Given the description of an element on the screen output the (x, y) to click on. 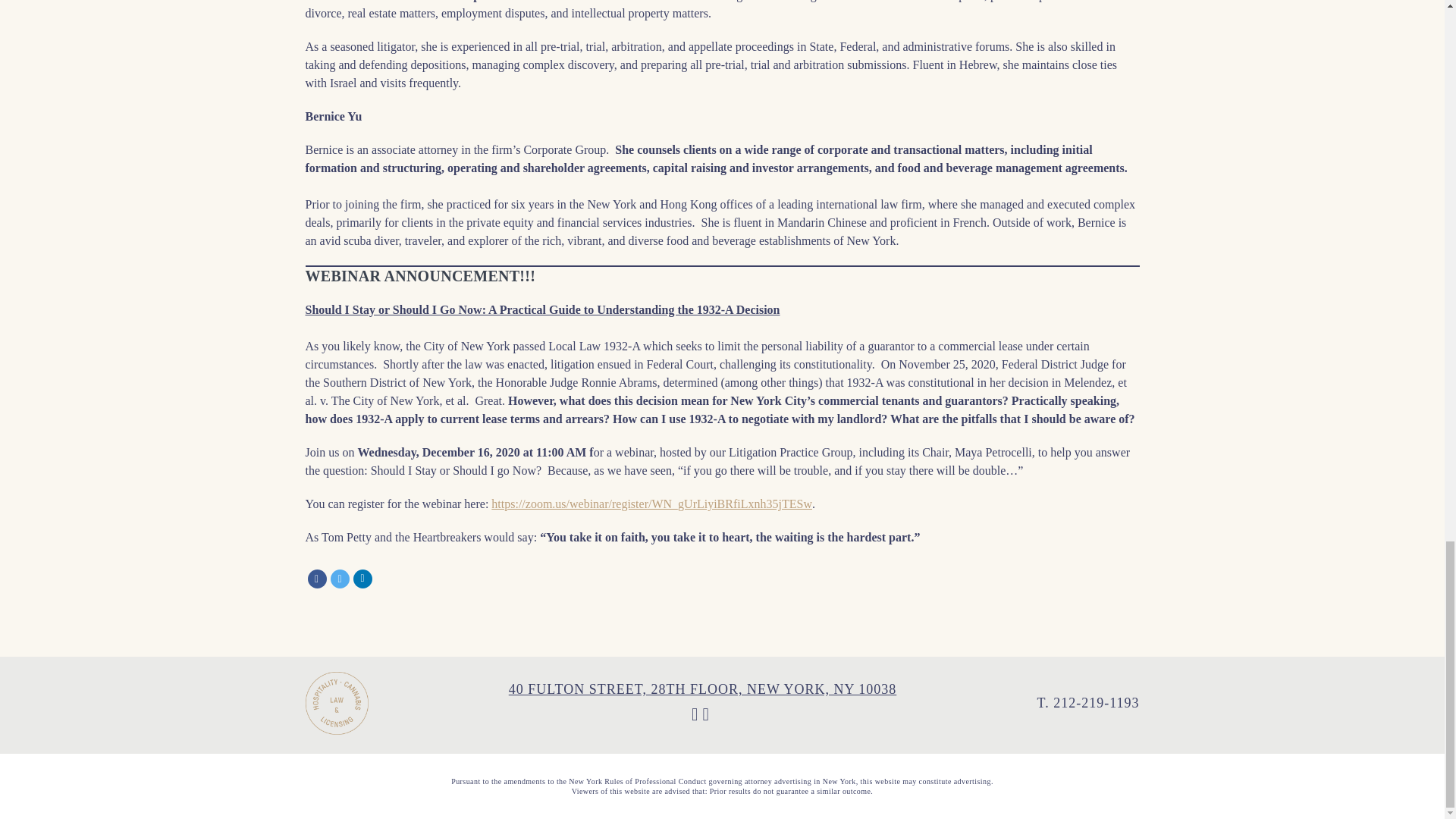
40 FULTON STREET, 28TH FLOOR, NEW YORK, NY 10038 (702, 688)
Tweet (339, 578)
Share on LinkedIn (362, 578)
Share on Facebook (316, 578)
